Given the description of an element on the screen output the (x, y) to click on. 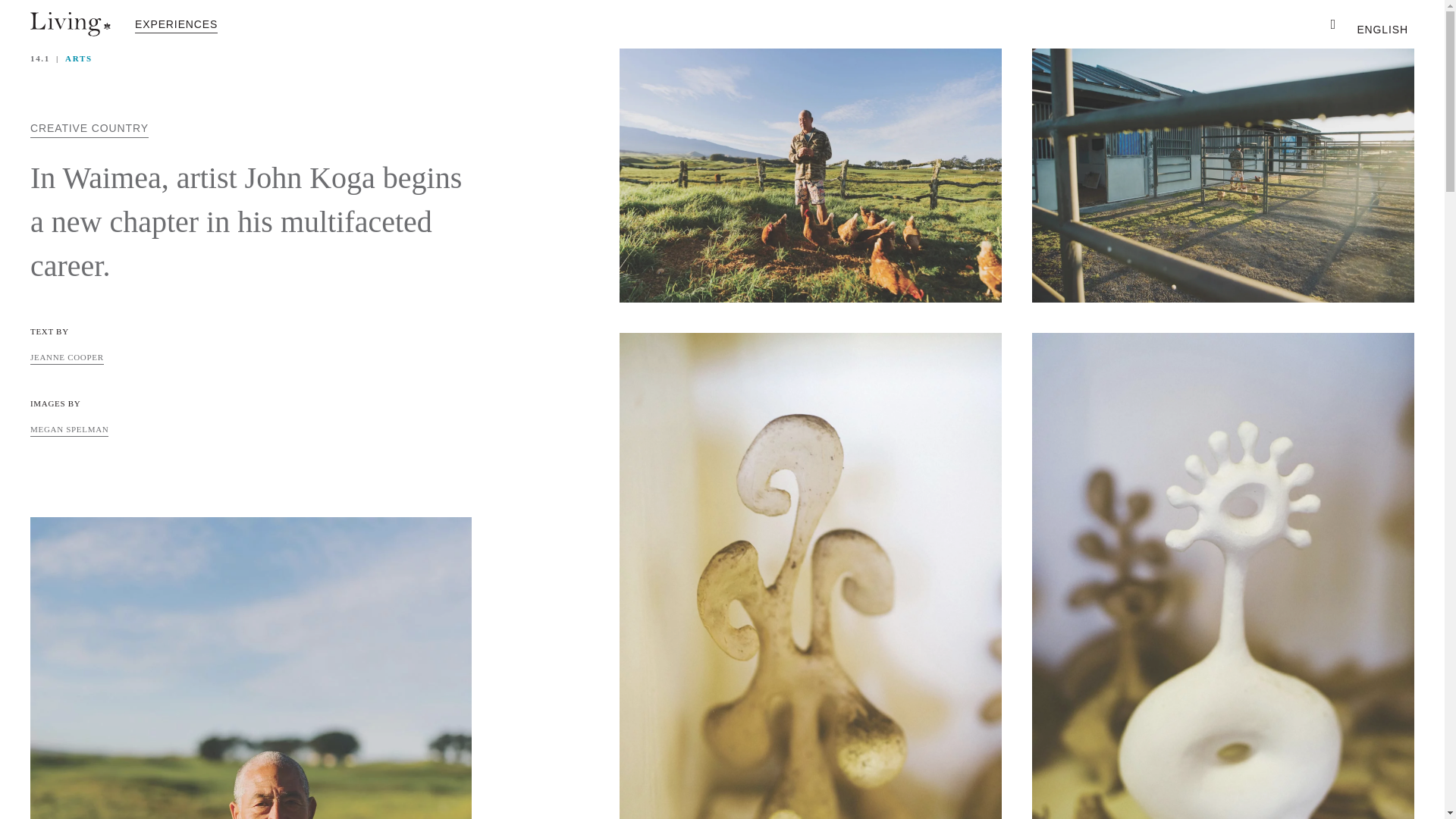
Living Logo (70, 24)
9 (810, 175)
2 (250, 667)
1 (1222, 175)
EXPERIENCES (175, 24)
Living Logo (70, 24)
